Given the description of an element on the screen output the (x, y) to click on. 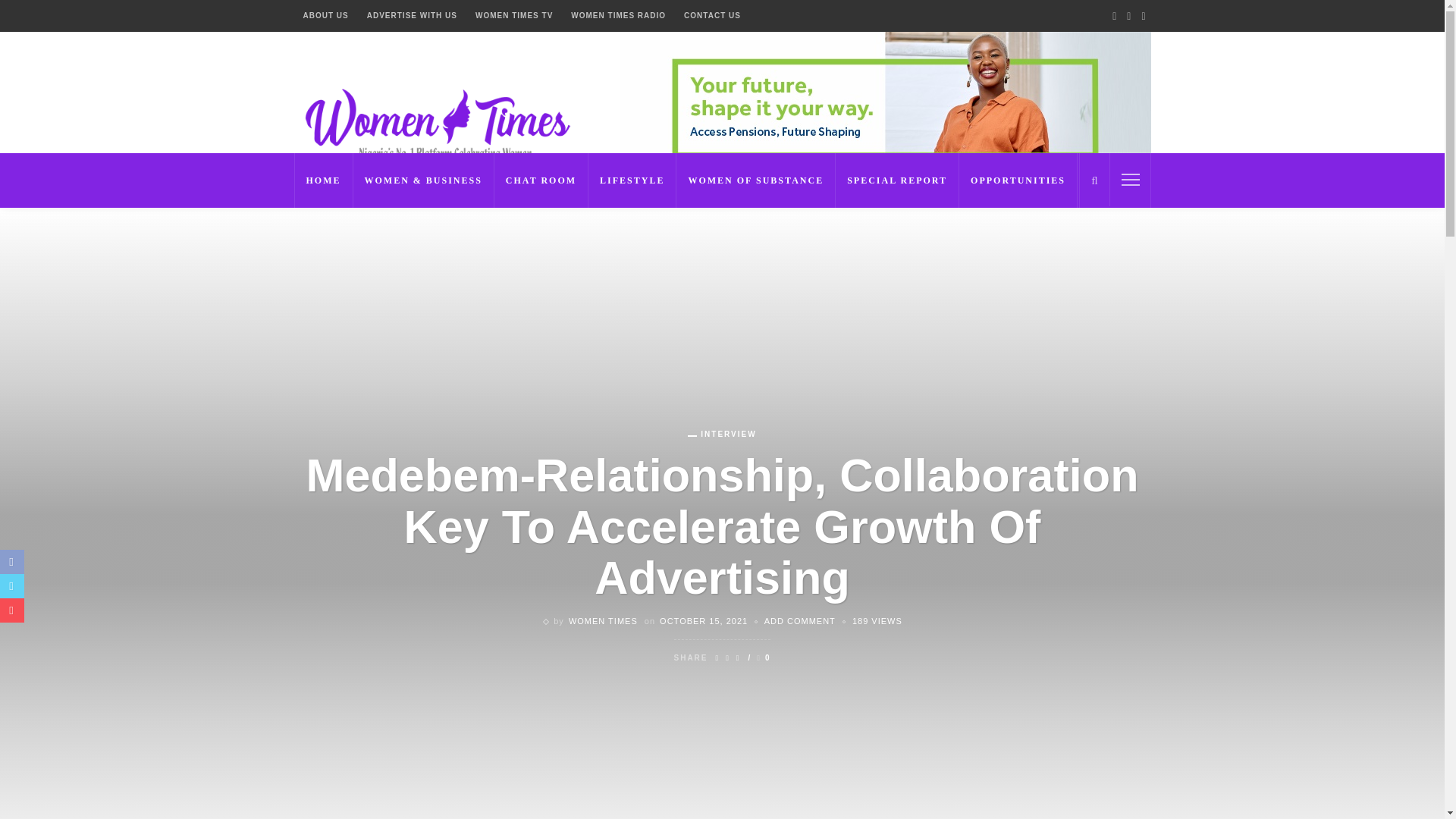
Women Times (434, 121)
